Given the description of an element on the screen output the (x, y) to click on. 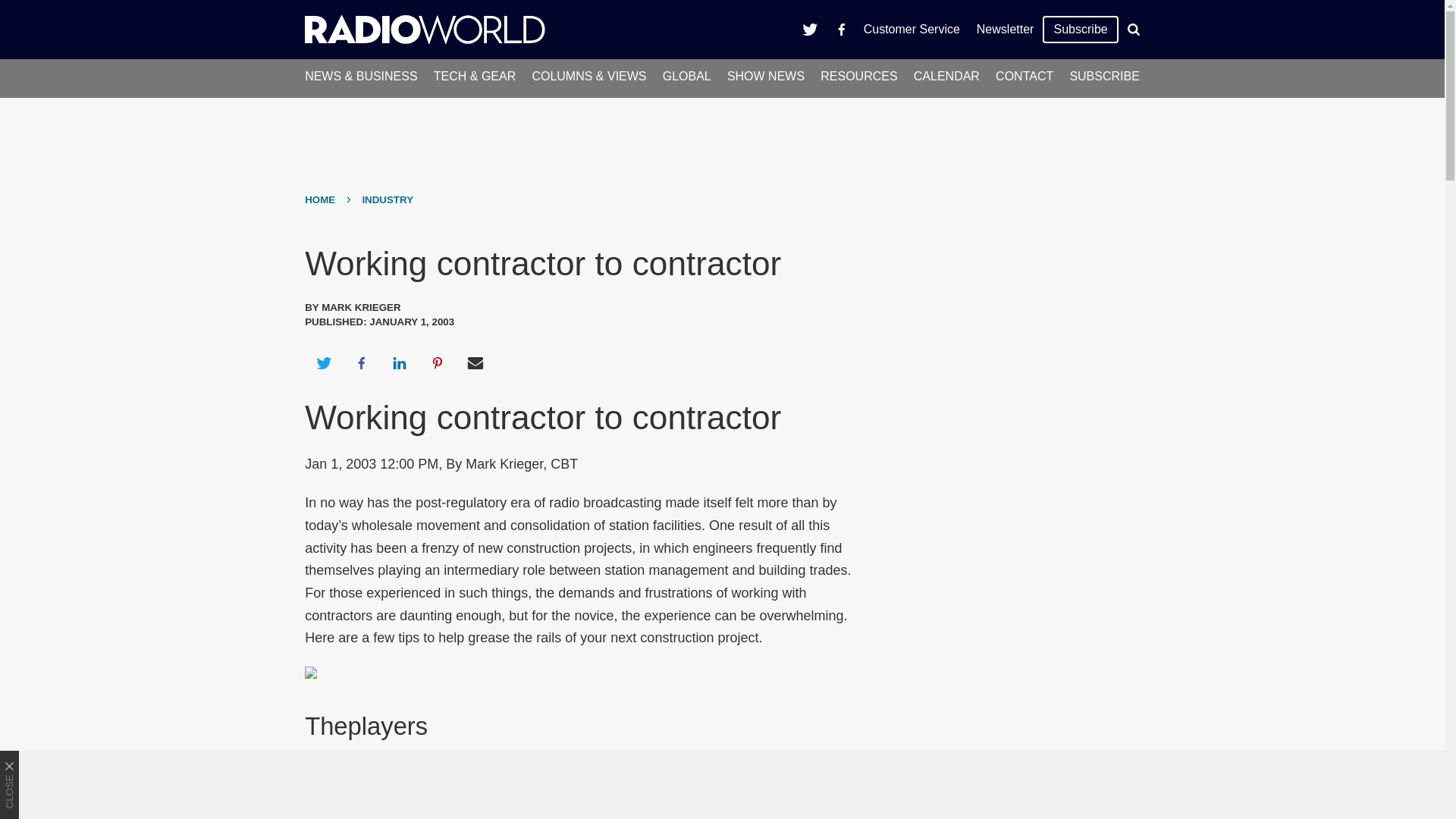
Share on Pinterest (438, 362)
Customer Service (912, 29)
Share via Email (476, 362)
Share on LinkedIn (399, 362)
Share on Facebook (361, 362)
Share on Twitter (323, 362)
